Given the description of an element on the screen output the (x, y) to click on. 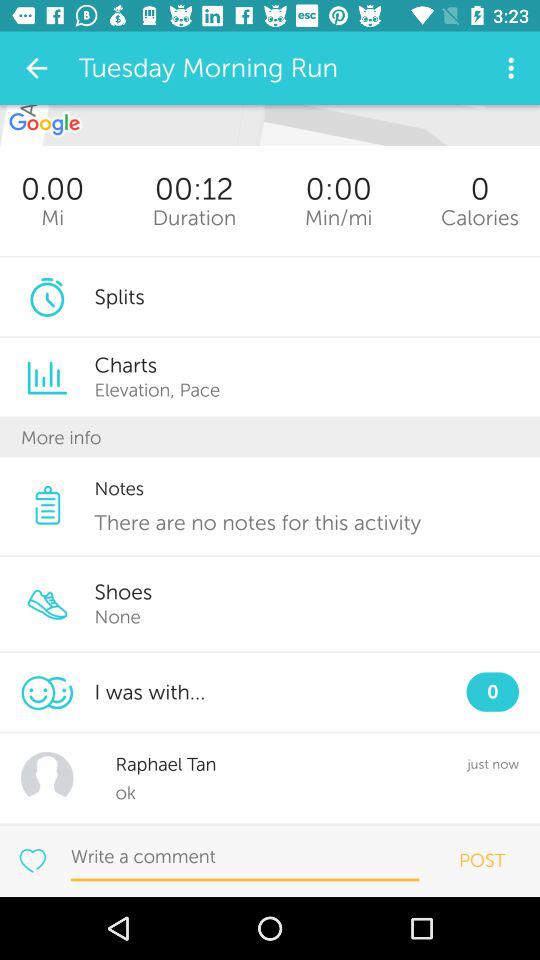
tap the item to the right of the 0.00 item (194, 217)
